Given the description of an element on the screen output the (x, y) to click on. 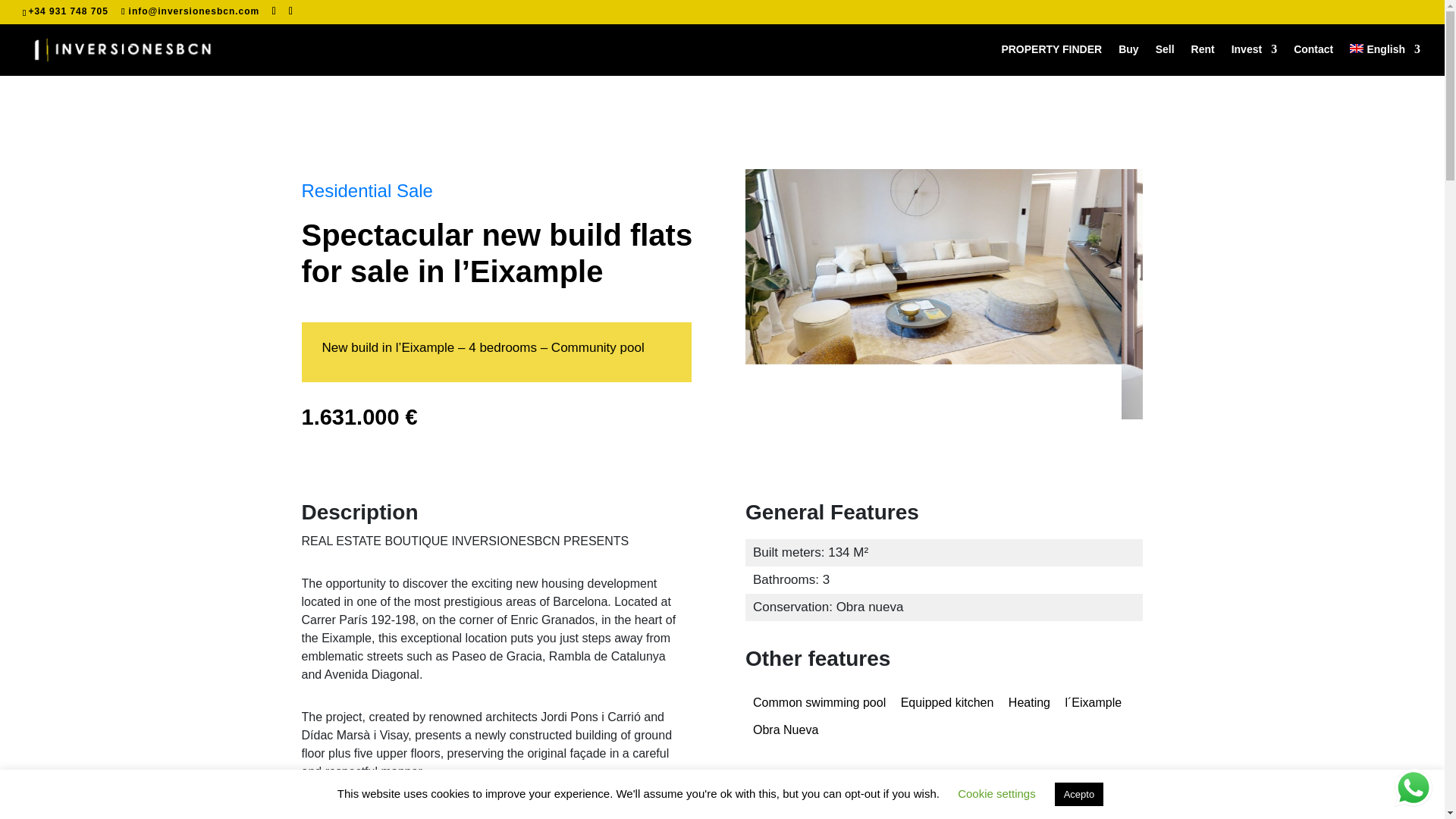
English (1385, 59)
Residential Sale (366, 190)
Contact (1313, 59)
English (1385, 59)
PROPERTY FINDER (1051, 59)
Invest (1413, 787)
